Given the description of an element on the screen output the (x, y) to click on. 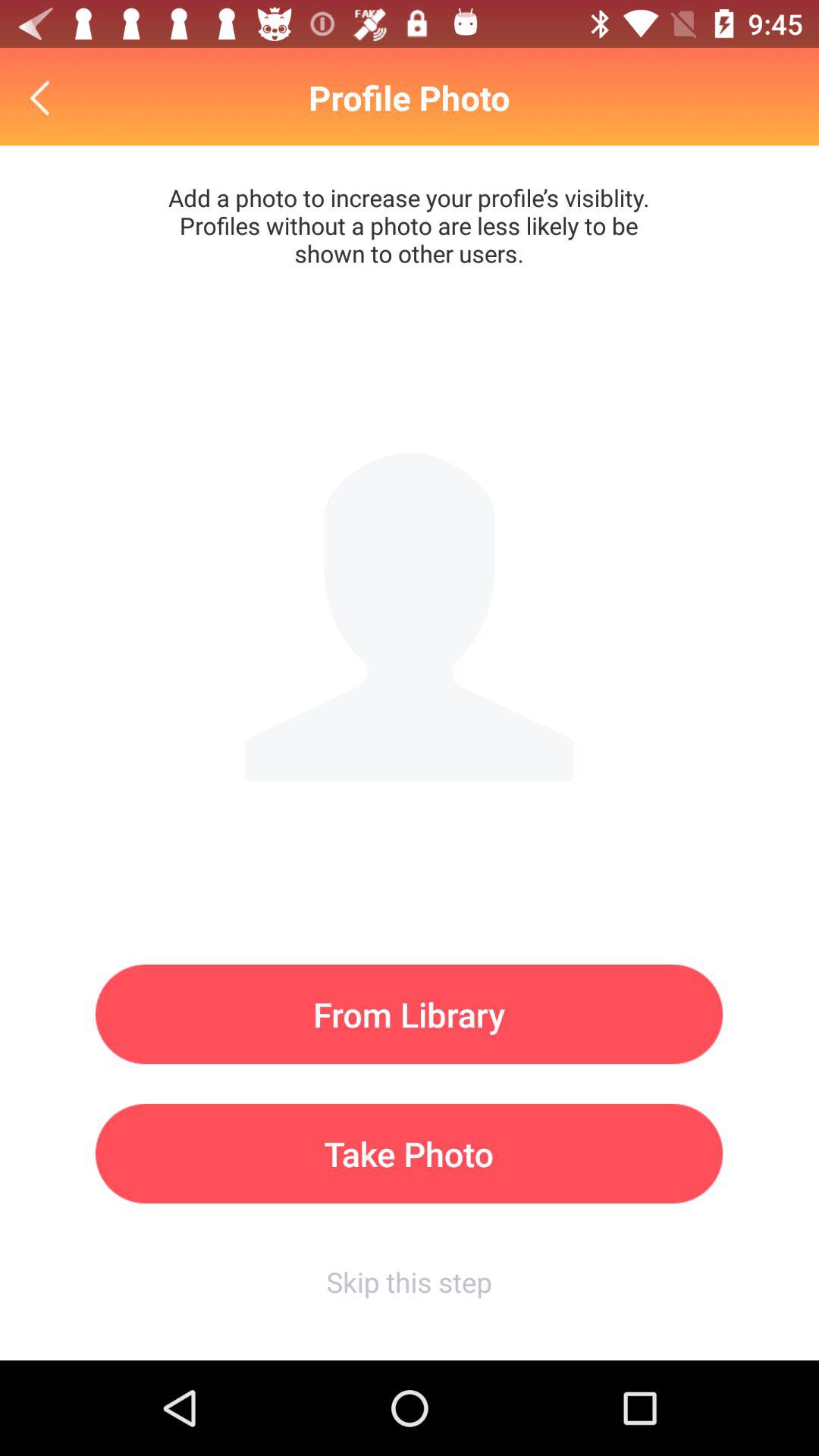
select item above take photo icon (408, 1014)
